Given the description of an element on the screen output the (x, y) to click on. 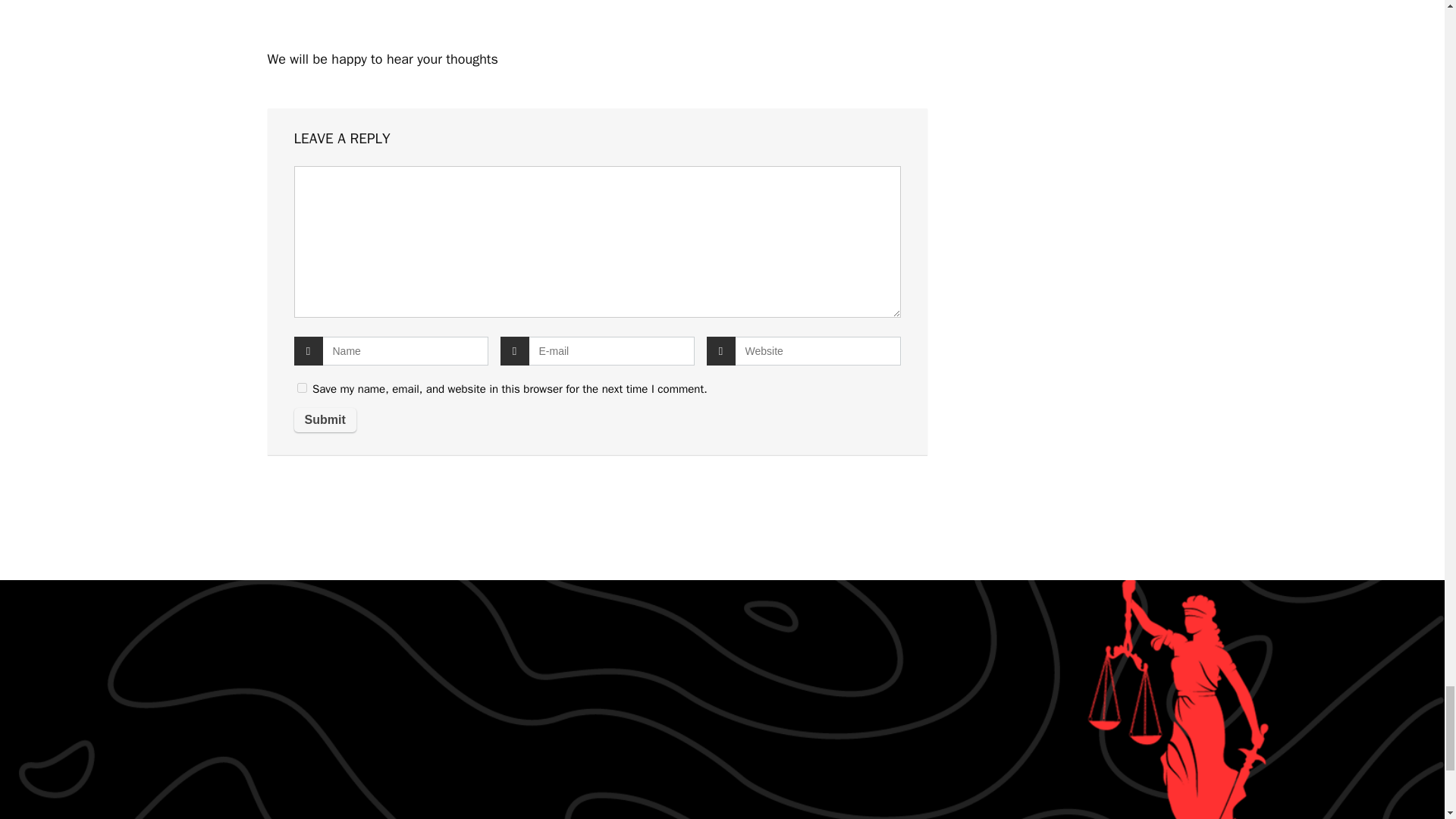
yes (302, 388)
Submit (325, 419)
